Given the description of an element on the screen output the (x, y) to click on. 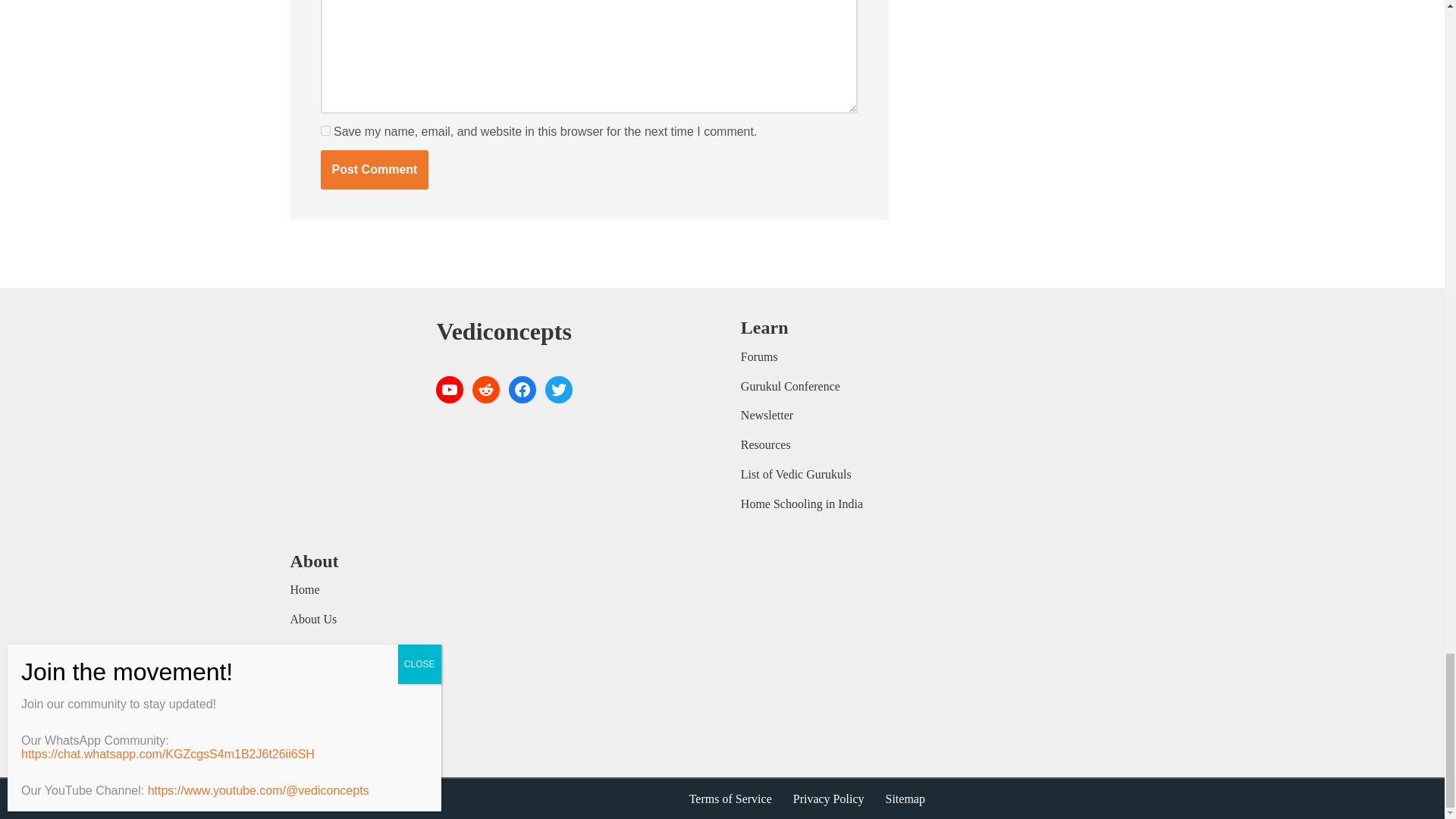
Post Comment (374, 169)
Post Comment (374, 169)
yes (325, 130)
